Given the description of an element on the screen output the (x, y) to click on. 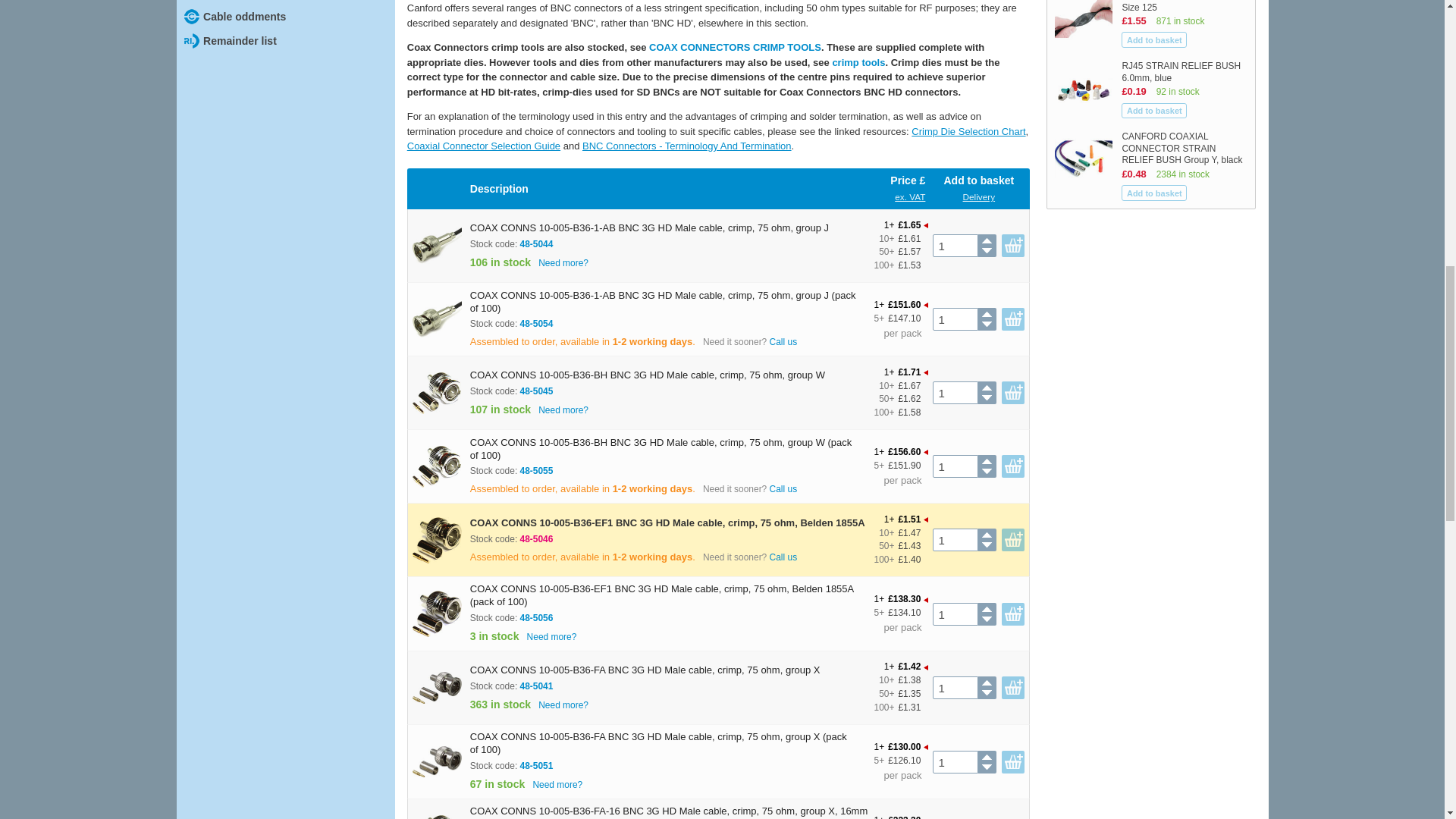
Add to basket (1153, 39)
1 (954, 466)
1 (954, 318)
1 (954, 245)
Add to basket (1153, 110)
1 (954, 392)
Add to basket (1153, 192)
